Given the description of an element on the screen output the (x, y) to click on. 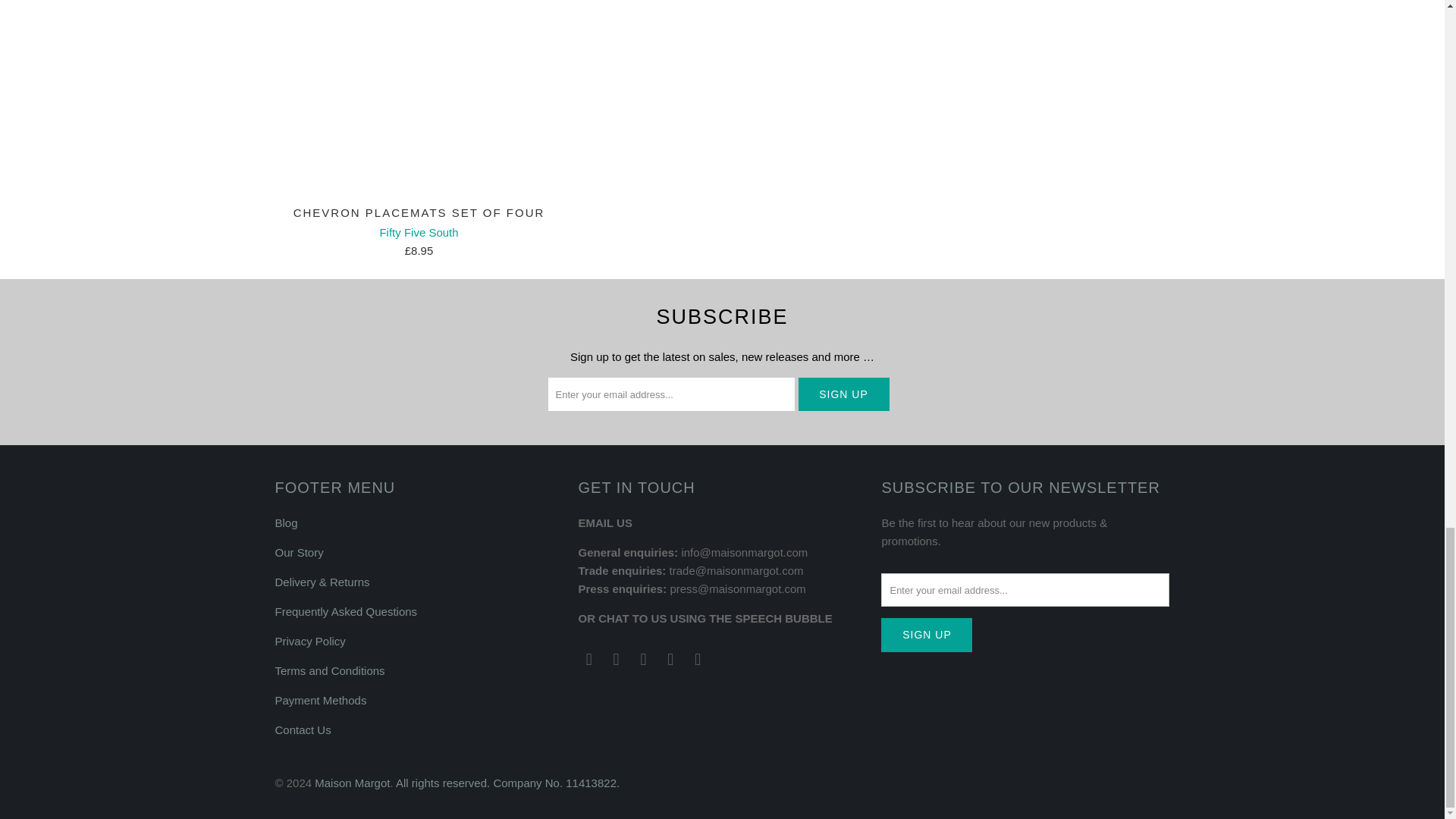
Sign Up (926, 634)
Sign Up (842, 394)
Maison Margot on Instagram (643, 659)
Email Maison Margot (588, 659)
Maison Margot on Facebook (616, 659)
